Given the description of an element on the screen output the (x, y) to click on. 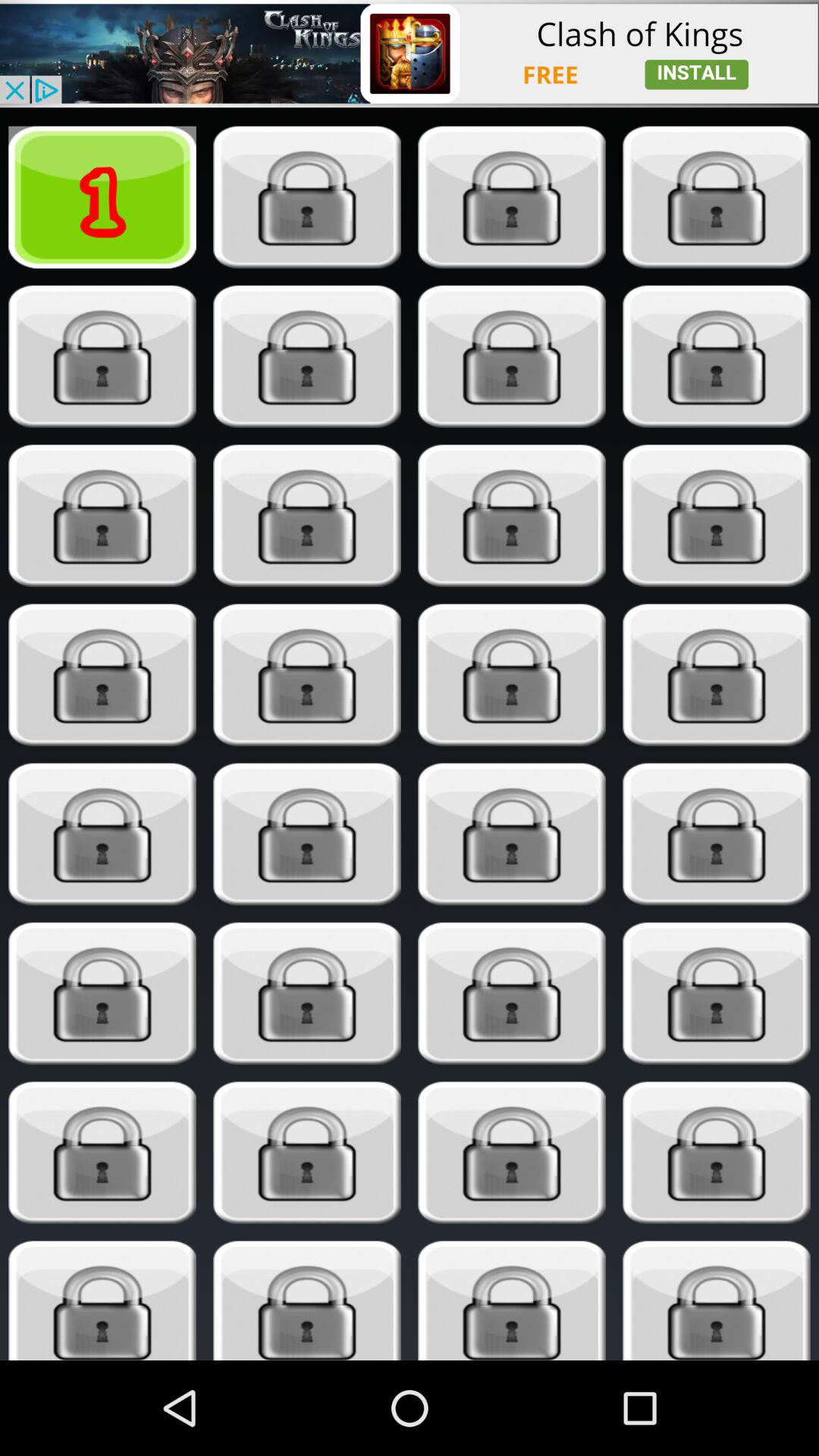
open locked app (716, 515)
